Given the description of an element on the screen output the (x, y) to click on. 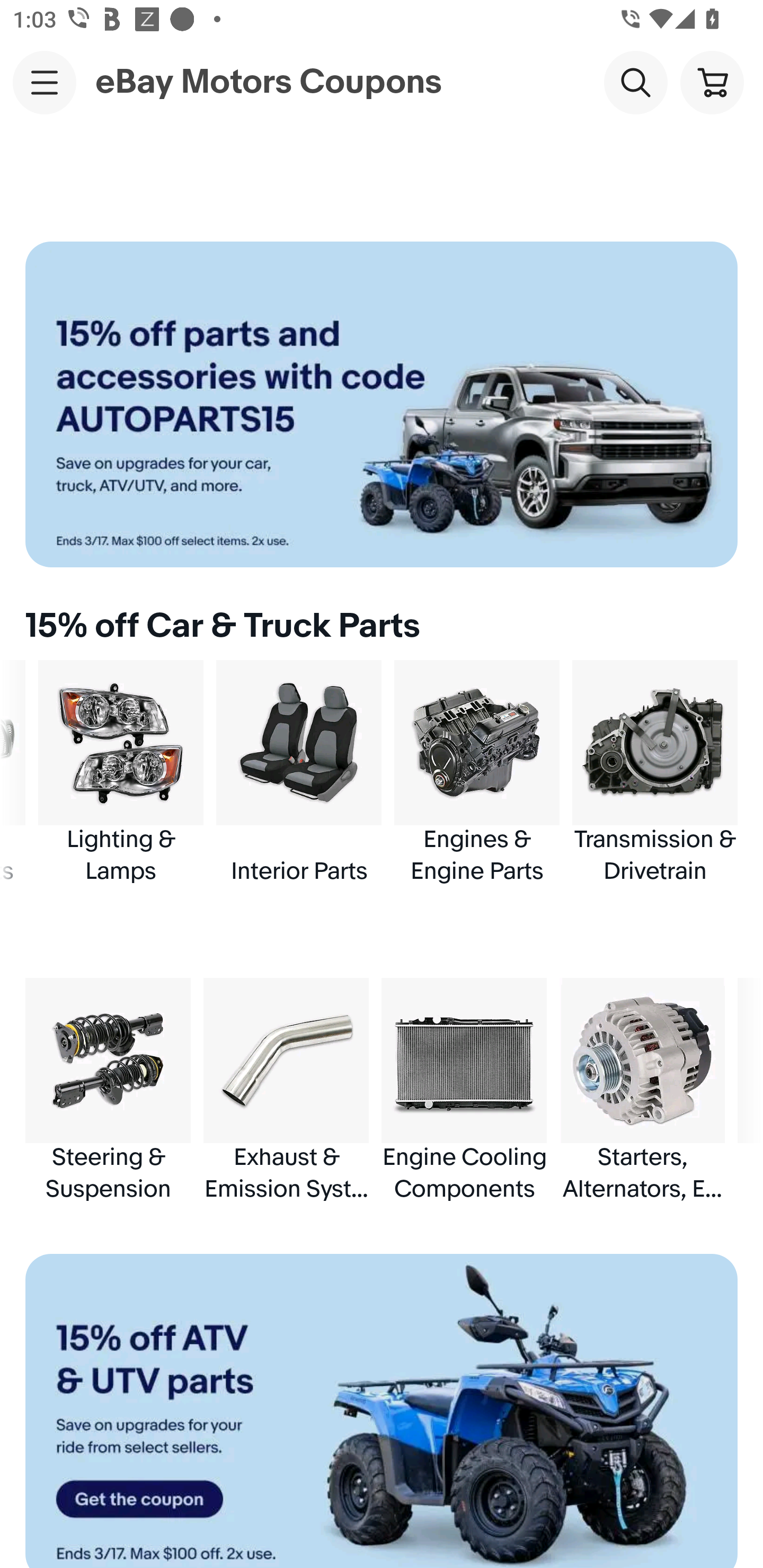
Main navigation, open (44, 82)
Search (635, 81)
Cart button shopping cart (711, 81)
15% off parts & accessories for your ride (381, 404)
Lighting & Lamps (120, 772)
Interior Parts (298, 772)
Engines & Engine Parts (476, 772)
Transmission & Drivetrain (654, 772)
Steering & Suspension (107, 1090)
Exhaust & Emission Systems (285, 1090)
Engine Cooling Components (464, 1090)
Starters, Alternators, ECUs & Wiring (641, 1090)
15% off atv and utv parts (381, 1411)
